Given the description of an element on the screen output the (x, y) to click on. 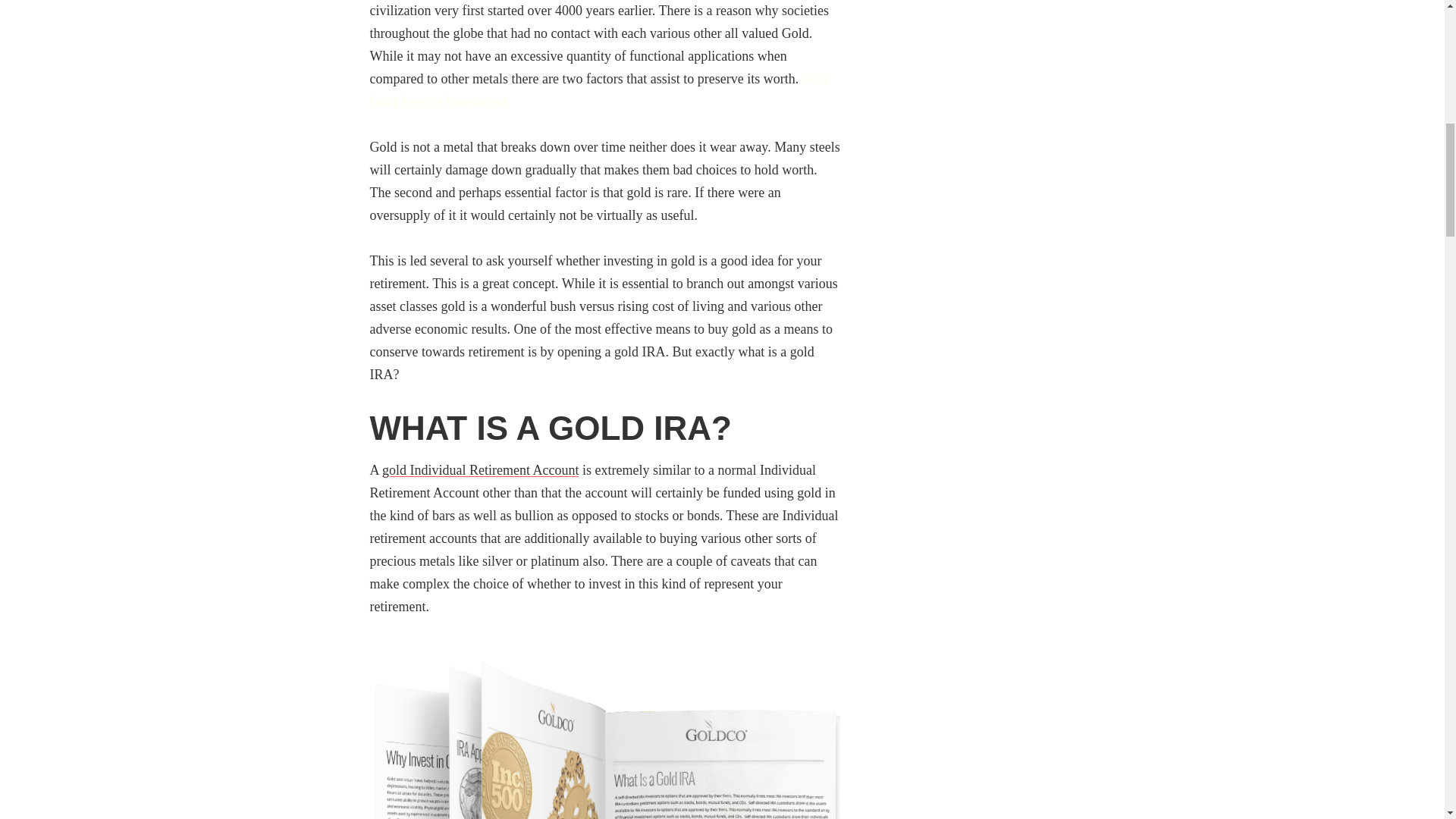
gold Individual Retirement Account (479, 469)
